Given the description of an element on the screen output the (x, y) to click on. 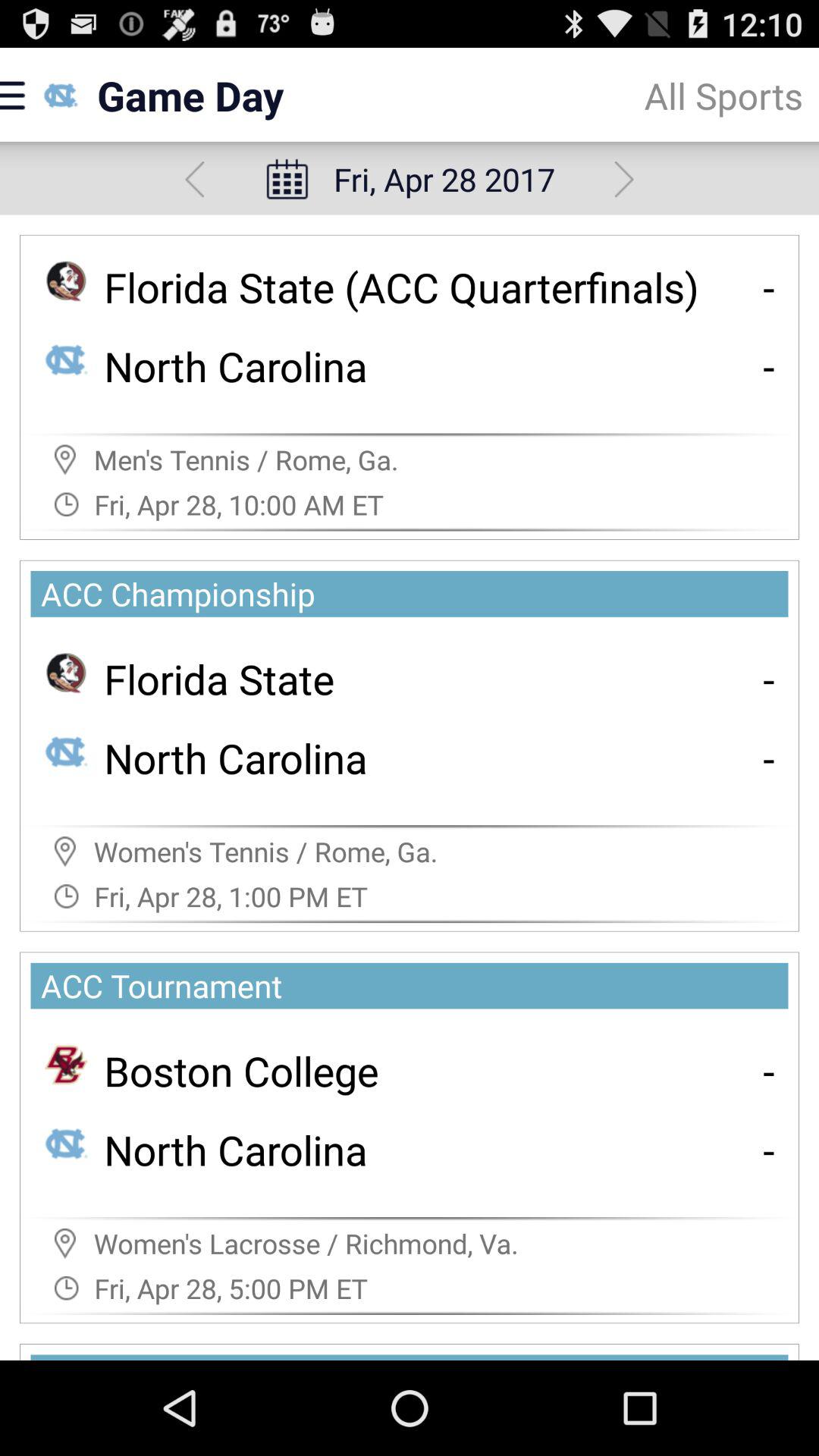
show next schedule (623, 178)
